Given the description of an element on the screen output the (x, y) to click on. 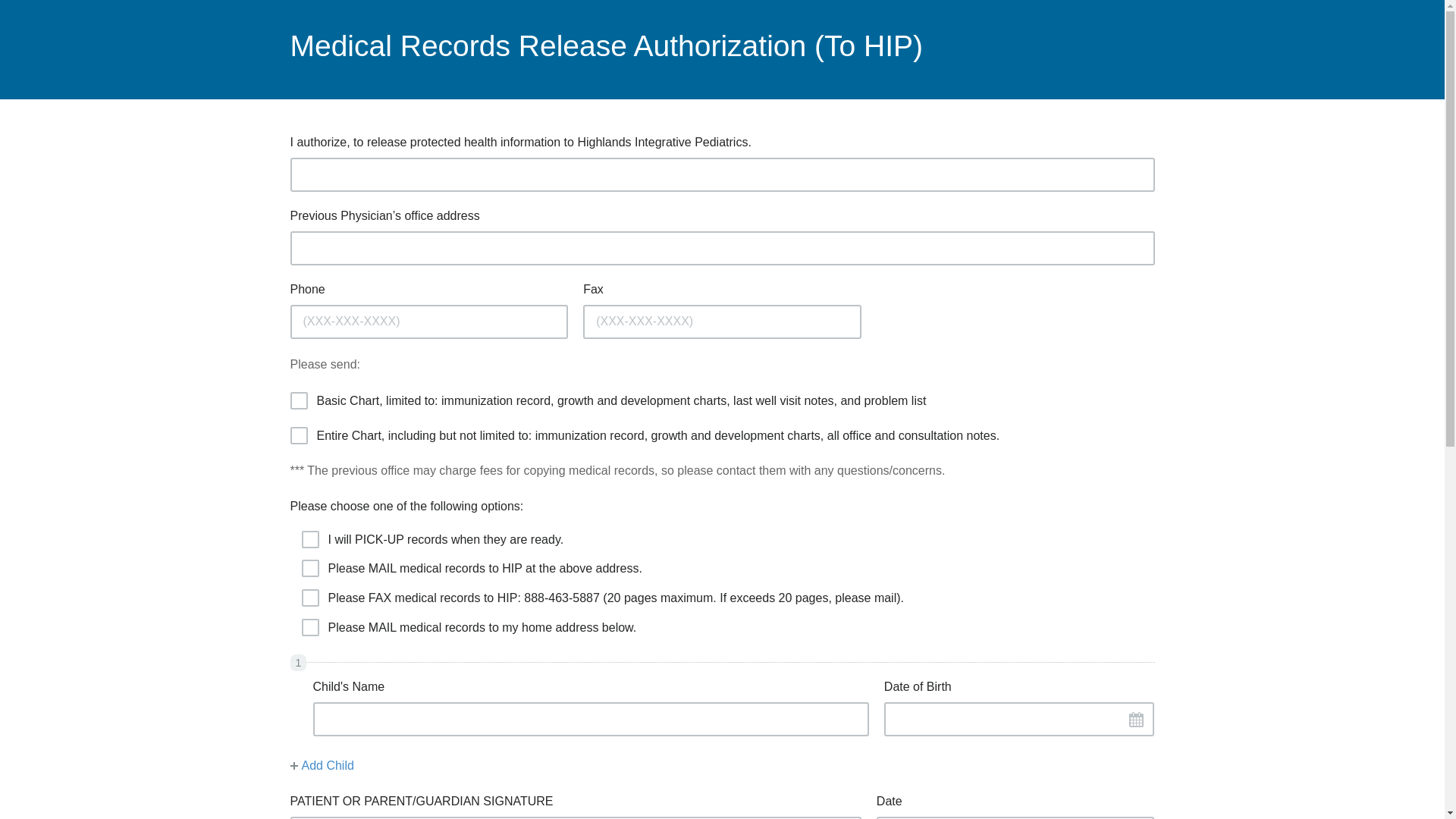
Yes (297, 432)
Please MAIL medical records to HIP at the above address. (308, 565)
Yes (297, 397)
Add Child (321, 765)
I will PICK-UP records when they are ready. (308, 536)
Please MAIL medical records to my home address below. (308, 624)
